Given the description of an element on the screen output the (x, y) to click on. 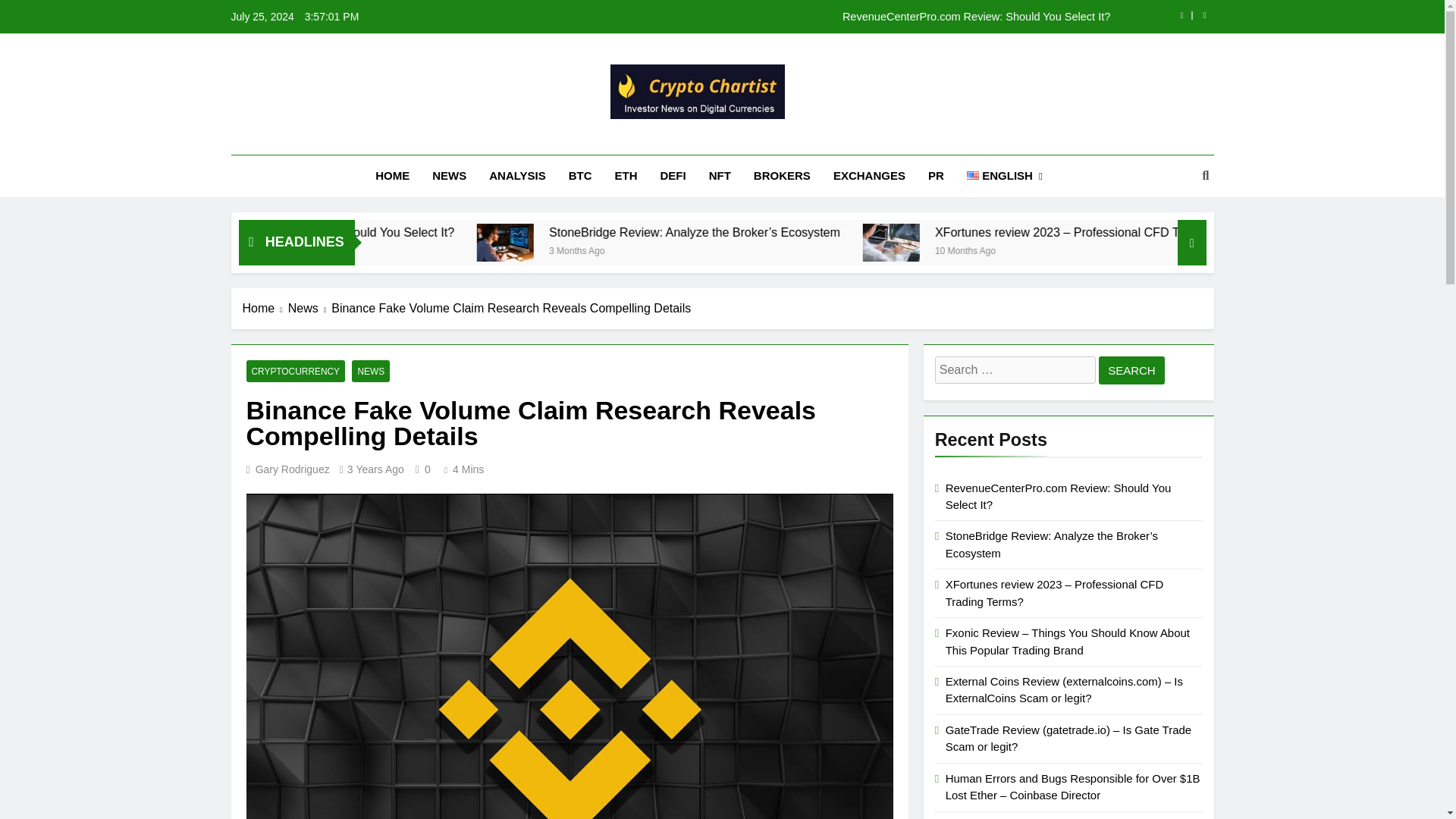
RevenueCenterPro.com Review: Should You Select It? (482, 232)
DEFI (673, 175)
RevenueCenterPro.com Review: Should You Select It? (817, 16)
Crypto Trading Guide (594, 140)
3 Months Ago (772, 249)
HOME (392, 175)
BTC (580, 175)
ETH (626, 175)
2 Months Ago (391, 249)
RevenueCenterPro.com Review: Should You Select It? (514, 232)
Search (1131, 370)
Search (1131, 370)
EXCHANGES (869, 175)
ANALYSIS (516, 175)
NFT (719, 175)
